Given the description of an element on the screen output the (x, y) to click on. 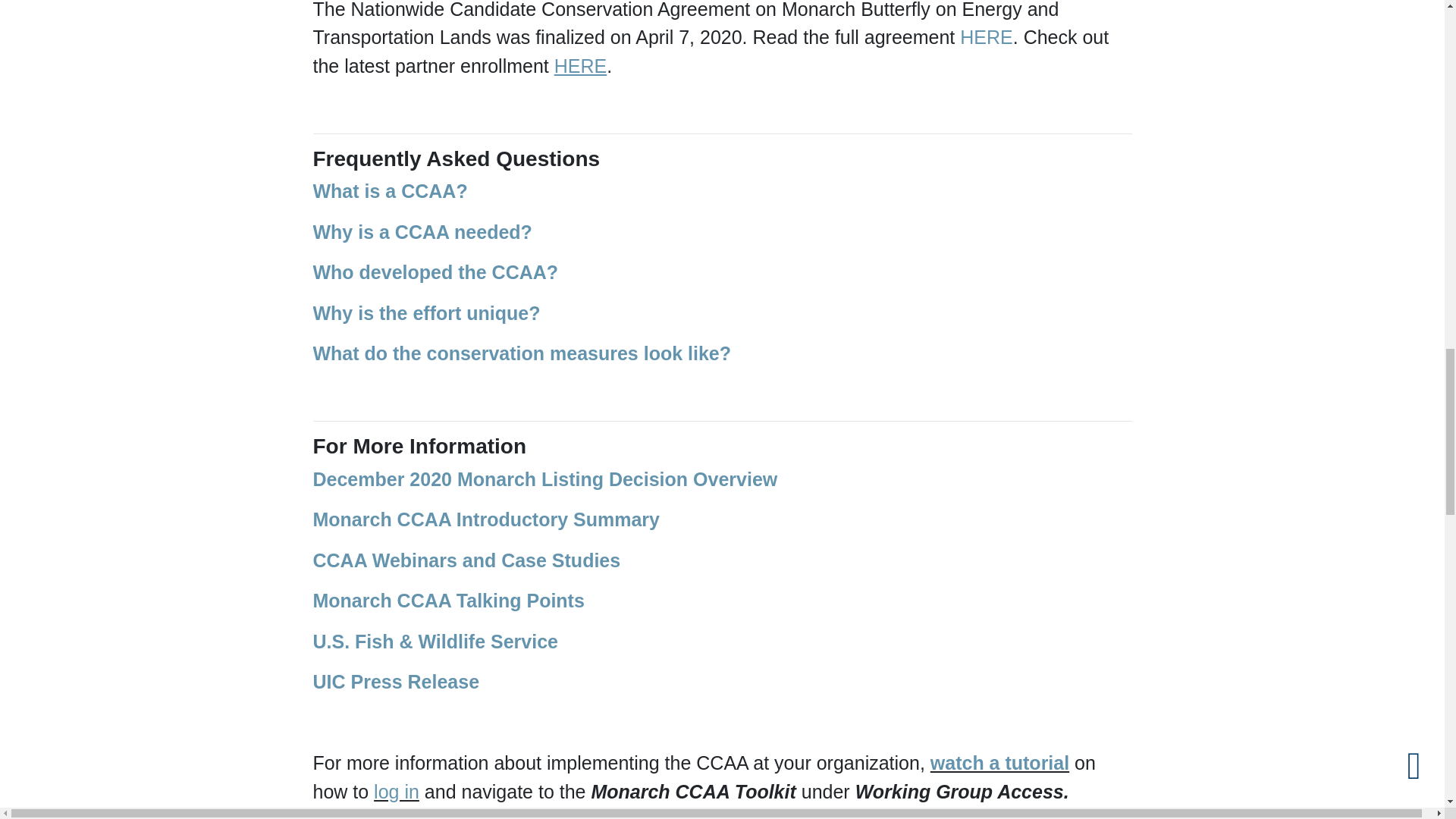
Opens in a new window (486, 518)
Opens in a new window (545, 478)
Opens in a new window (396, 791)
Opens in a new window (448, 599)
Opens in a new window (985, 36)
Opens in a new window (466, 559)
Opens in a new window (999, 762)
